Given the description of an element on the screen output the (x, y) to click on. 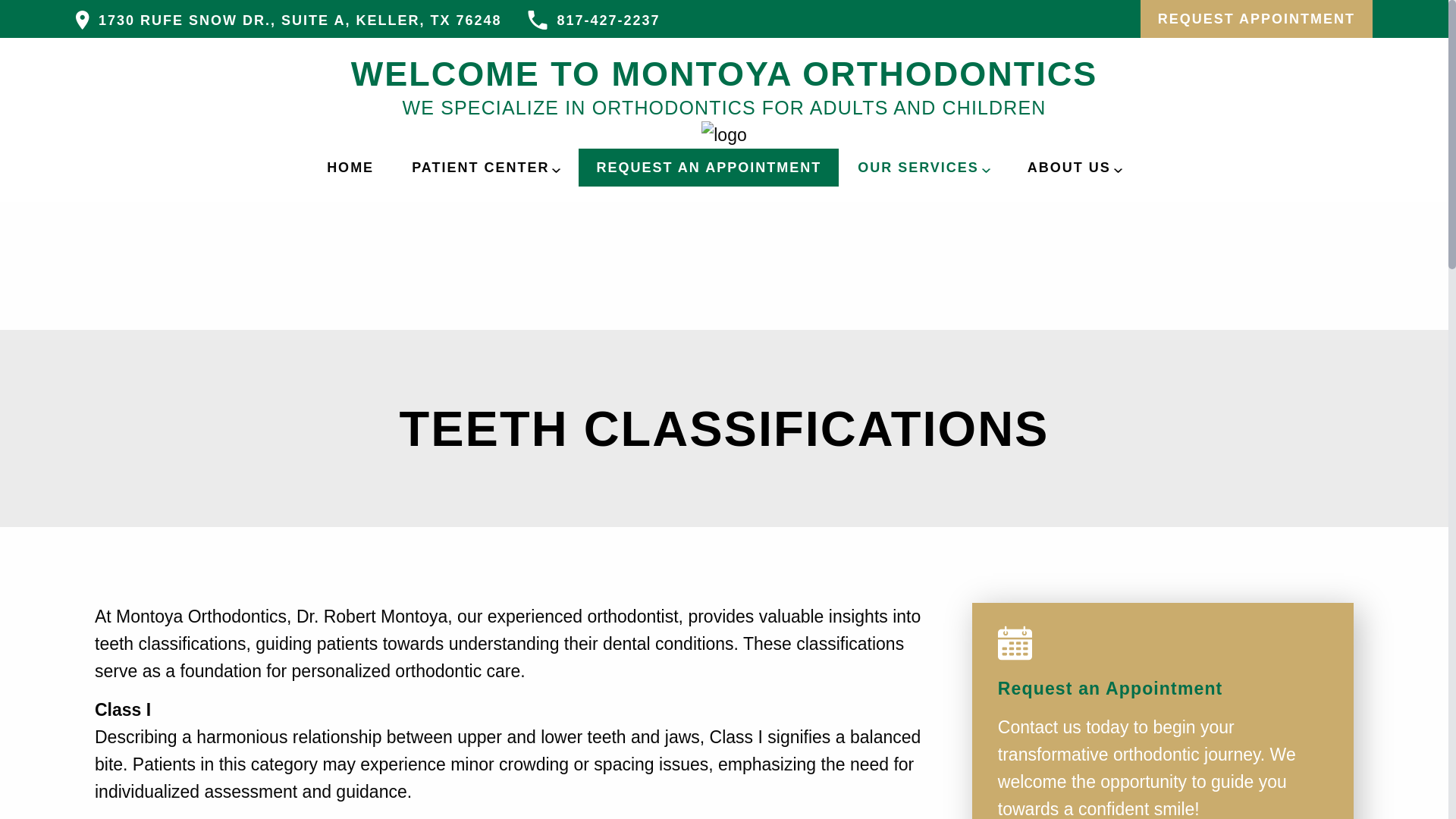
1730 RUFE SNOW DR., SUITE A, KELLER, TX 76248 (287, 20)
REQUEST APPOINTMENT (1256, 18)
HOME (350, 167)
817-427-2237 (593, 20)
PATIENT CENTER (485, 167)
